Given the description of an element on the screen output the (x, y) to click on. 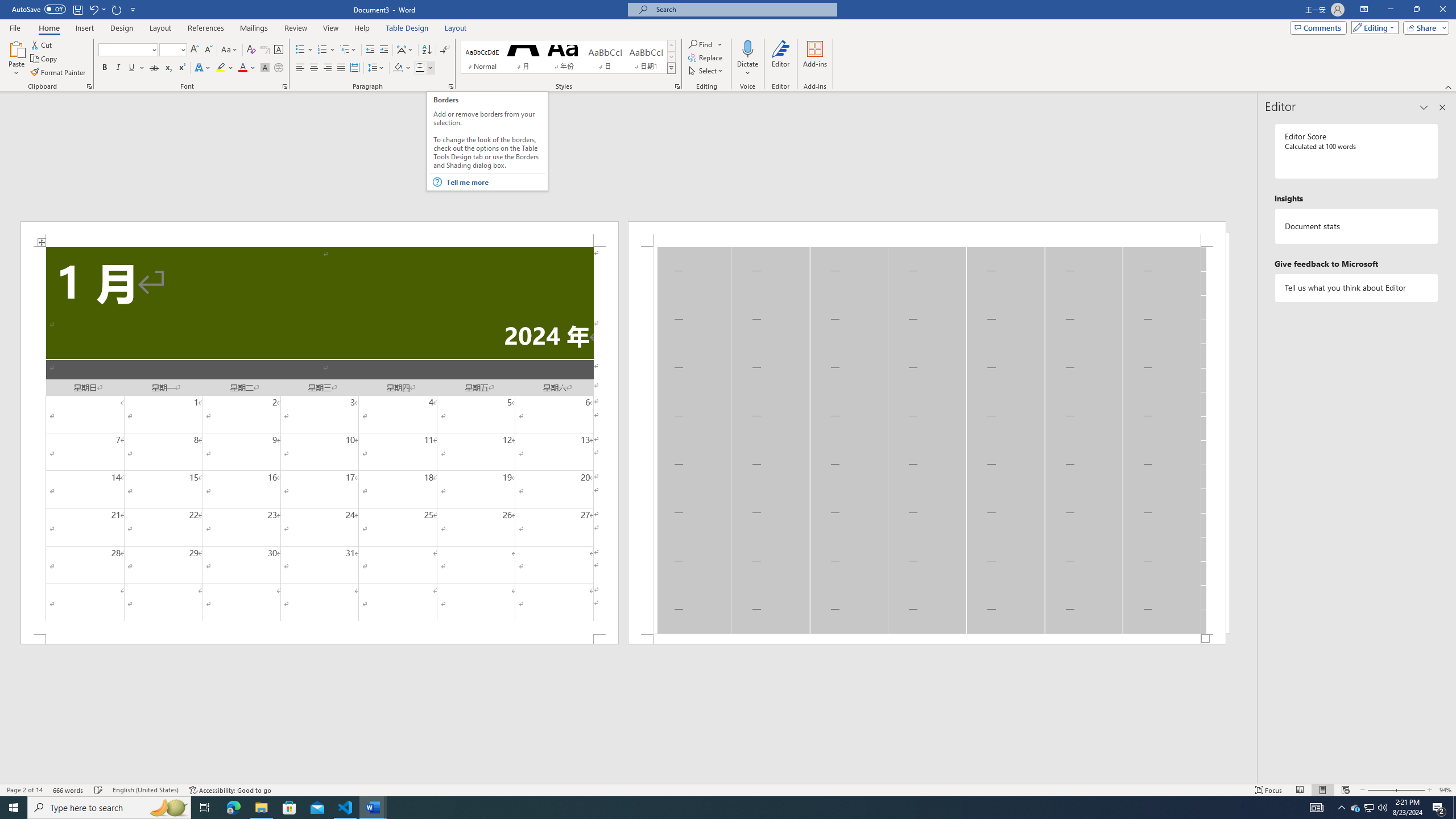
Microsoft search (742, 9)
Page Number Page 2 of 14 (24, 790)
Shading RGB(0, 0, 0) (397, 67)
Align Right (327, 67)
Subscript (167, 67)
